Given the description of an element on the screen output the (x, y) to click on. 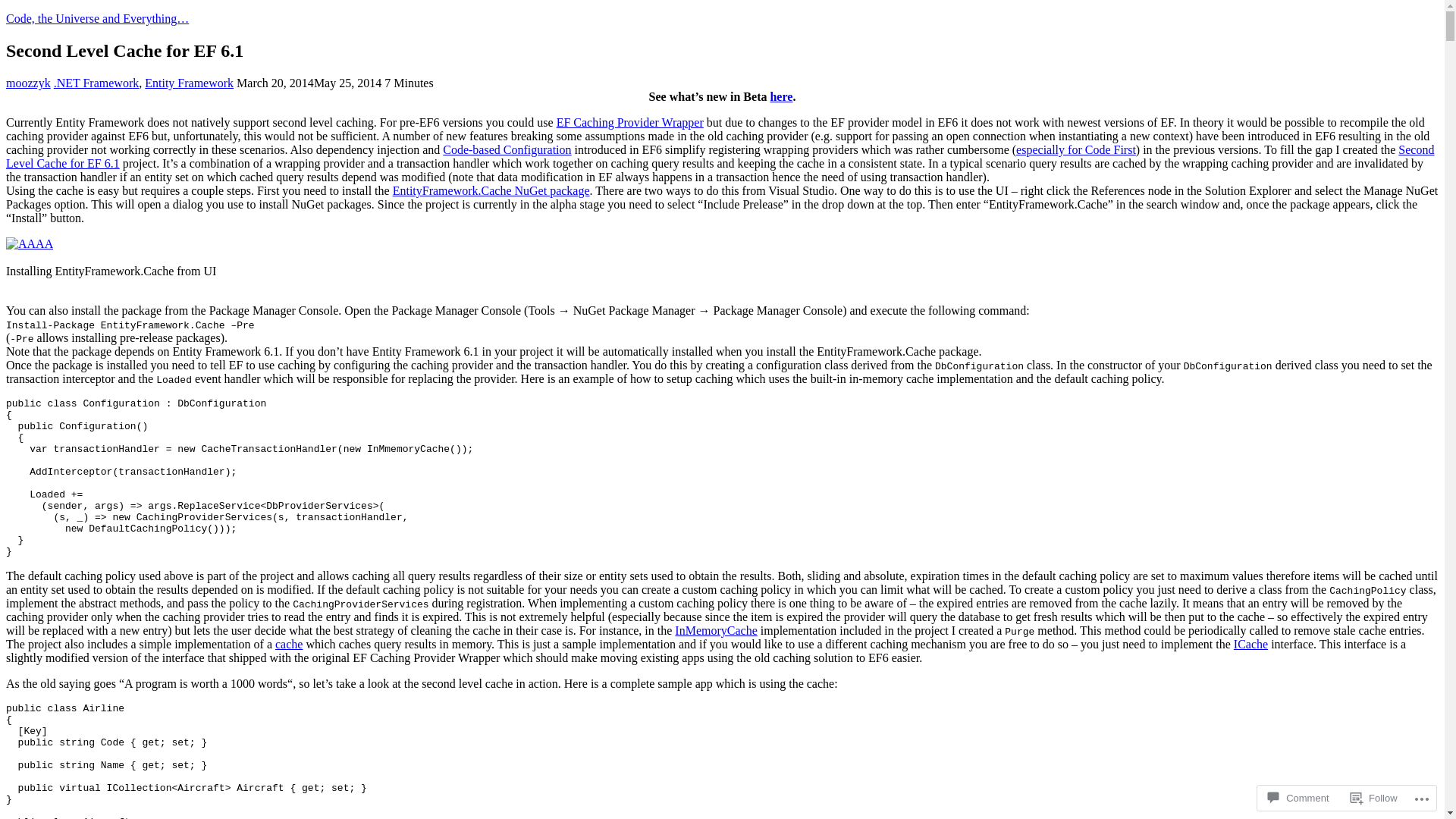
Second Level Cache for EF 6.1 Element type: text (720, 156)
moozzyk Element type: text (28, 82)
Entity Framework Element type: text (188, 82)
Comment Element type: text (1297, 797)
cache Element type: text (288, 643)
Follow Element type: text (1373, 797)
Skip to content Element type: text (5, 11)
Code-based Configuration Element type: text (506, 149)
EntityFramework.Cache NuGet package Element type: text (490, 190)
ICache Element type: text (1250, 643)
.NET Framework Element type: text (96, 82)
InMemoryCache Element type: text (715, 630)
here Element type: text (780, 96)
EF Caching Provider Wrapper Element type: text (629, 122)
especially for Code First Element type: text (1075, 149)
